Given the description of an element on the screen output the (x, y) to click on. 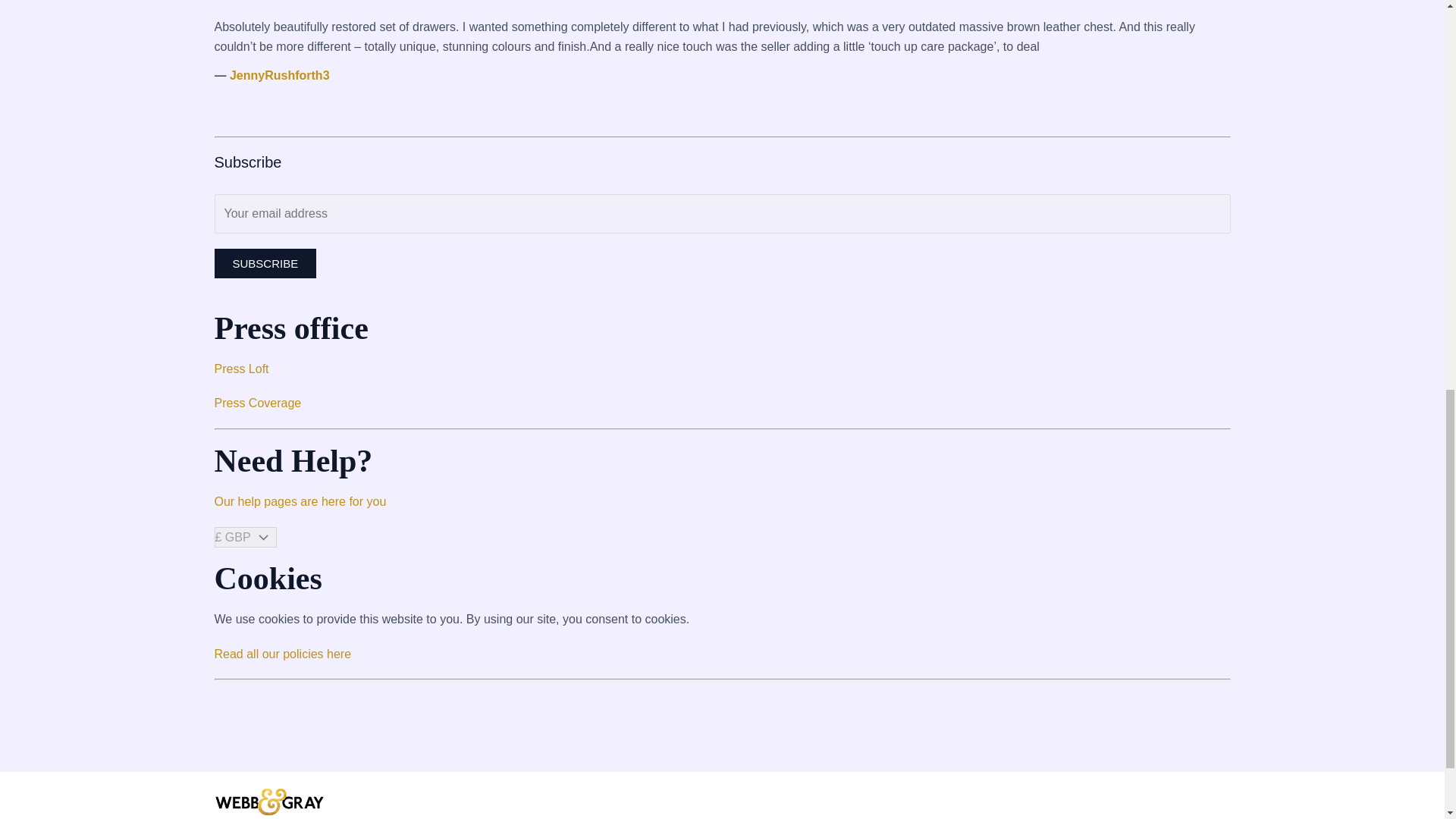
JennyRushforth3 (280, 74)
SUBSCRIBE (264, 263)
JennyRushforth3 (280, 74)
Read all our policies here (282, 653)
Press Loft (240, 368)
Our help pages are here for you (299, 501)
Press Coverage (257, 402)
